Given the description of an element on the screen output the (x, y) to click on. 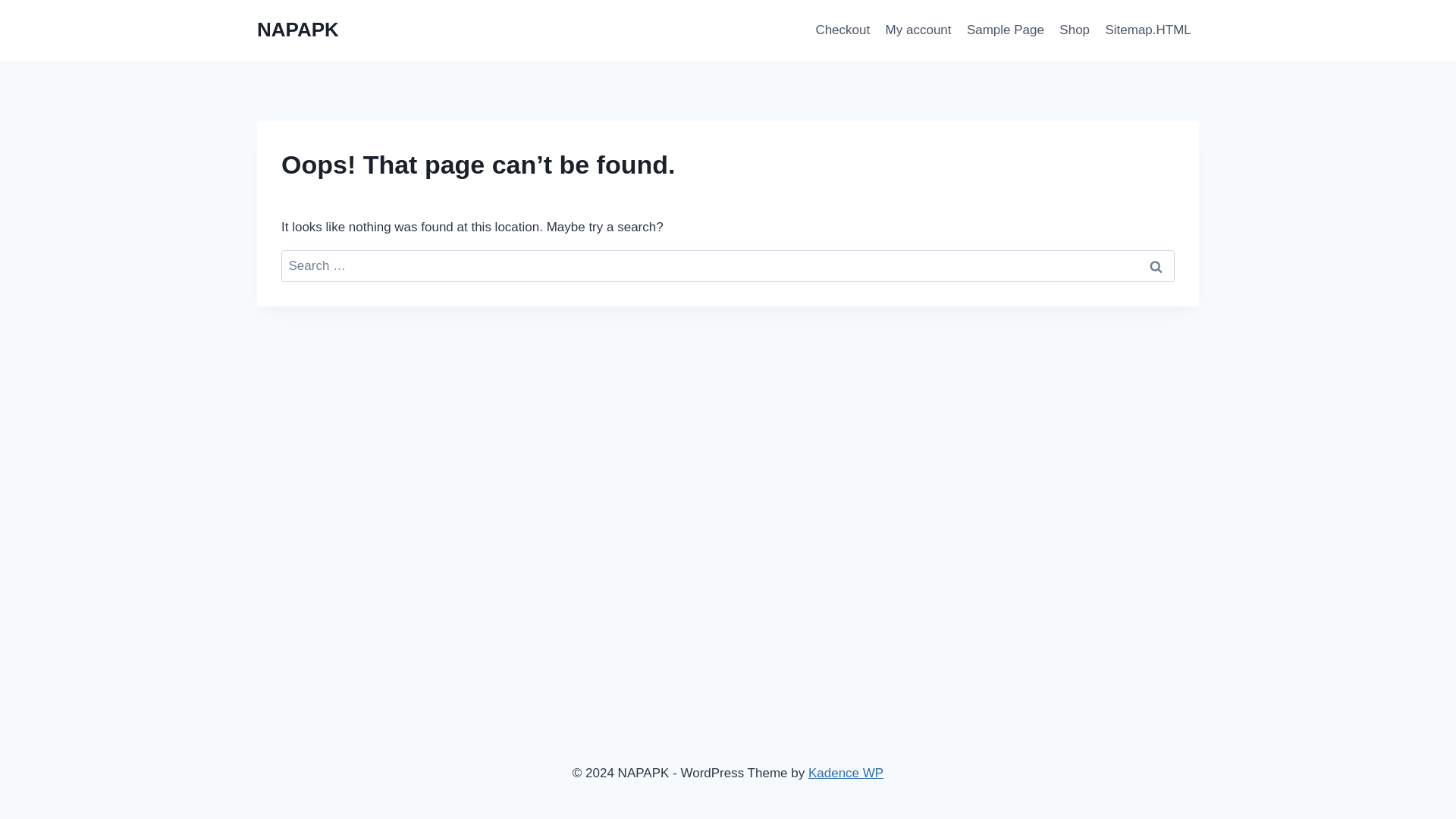
My account (917, 30)
Sample Page (1005, 30)
Search (1155, 266)
Shop (1074, 30)
Sitemap.HTML (1147, 30)
Search (1155, 266)
Kadence WP (845, 772)
Search (1155, 266)
Checkout (842, 30)
NAPAPK (298, 29)
